Given the description of an element on the screen output the (x, y) to click on. 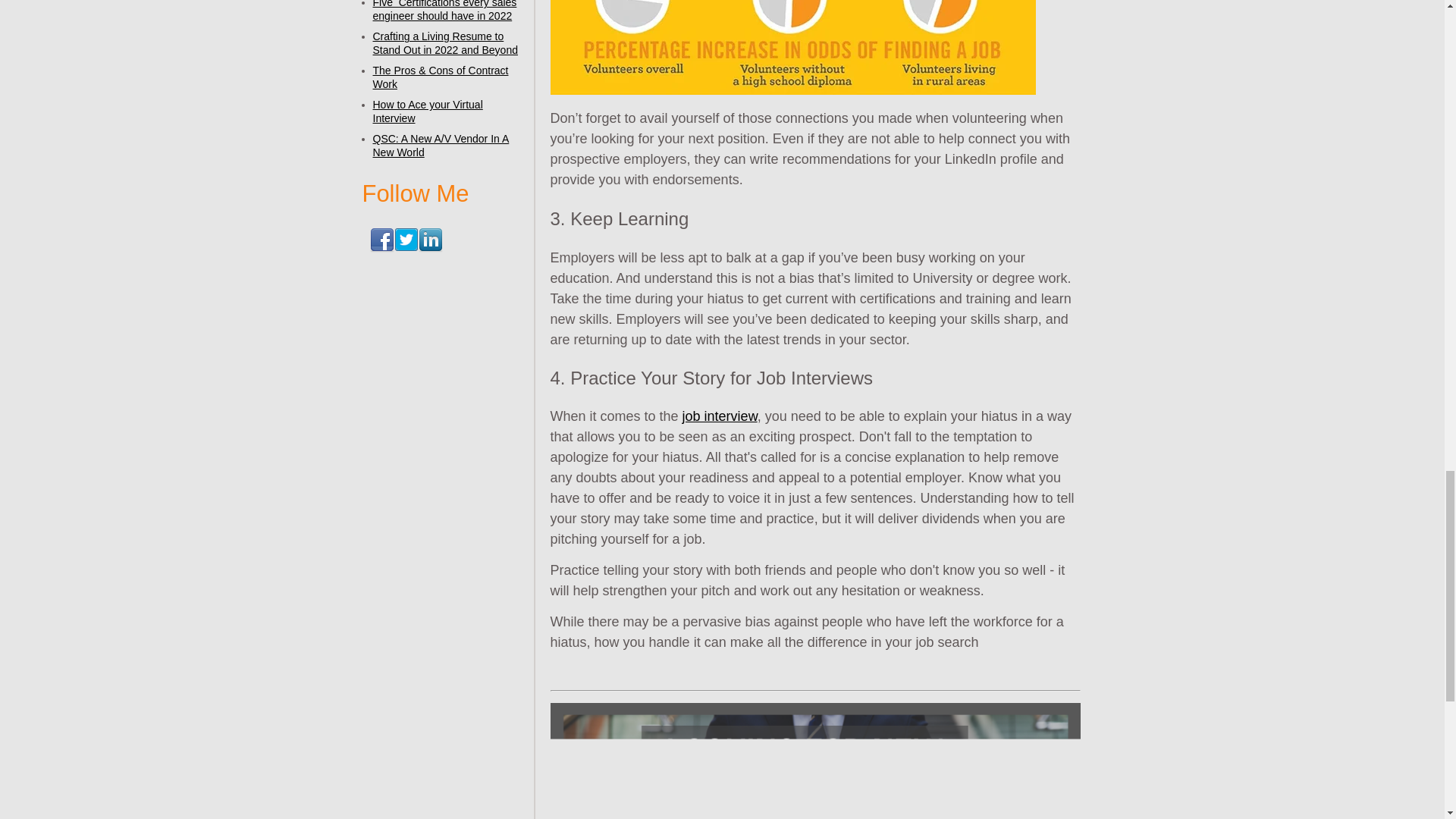
Follow us on Facebook (381, 240)
Follow us on Linkedin (430, 240)
Follow us on Twitter (406, 240)
